Given the description of an element on the screen output the (x, y) to click on. 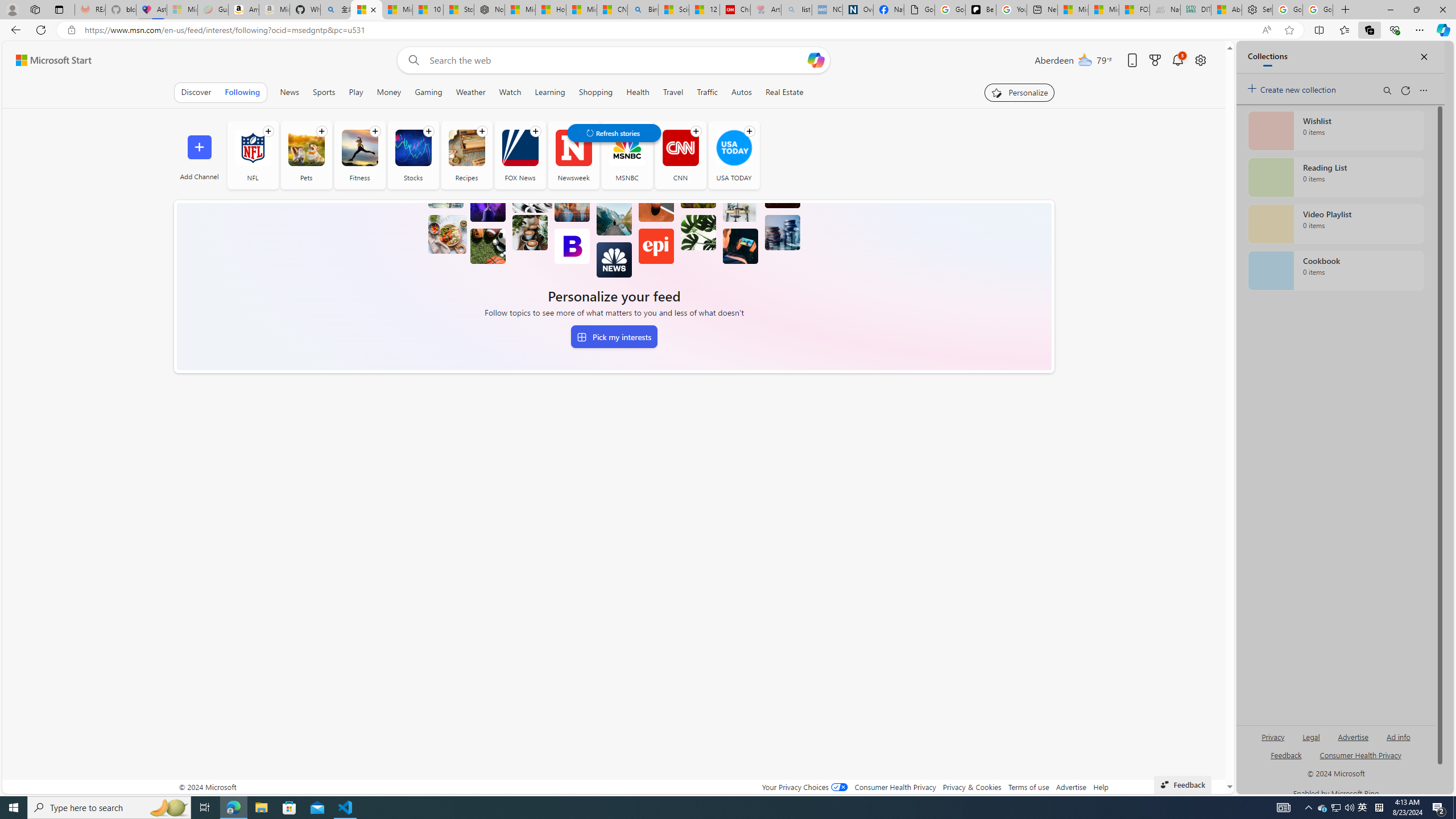
Consumer Health Privacy (895, 786)
Play (355, 92)
Weather (470, 92)
Play (355, 92)
Pick my interests (614, 336)
Recipes (466, 147)
Gaming (428, 92)
Traffic (707, 92)
